Given the description of an element on the screen output the (x, y) to click on. 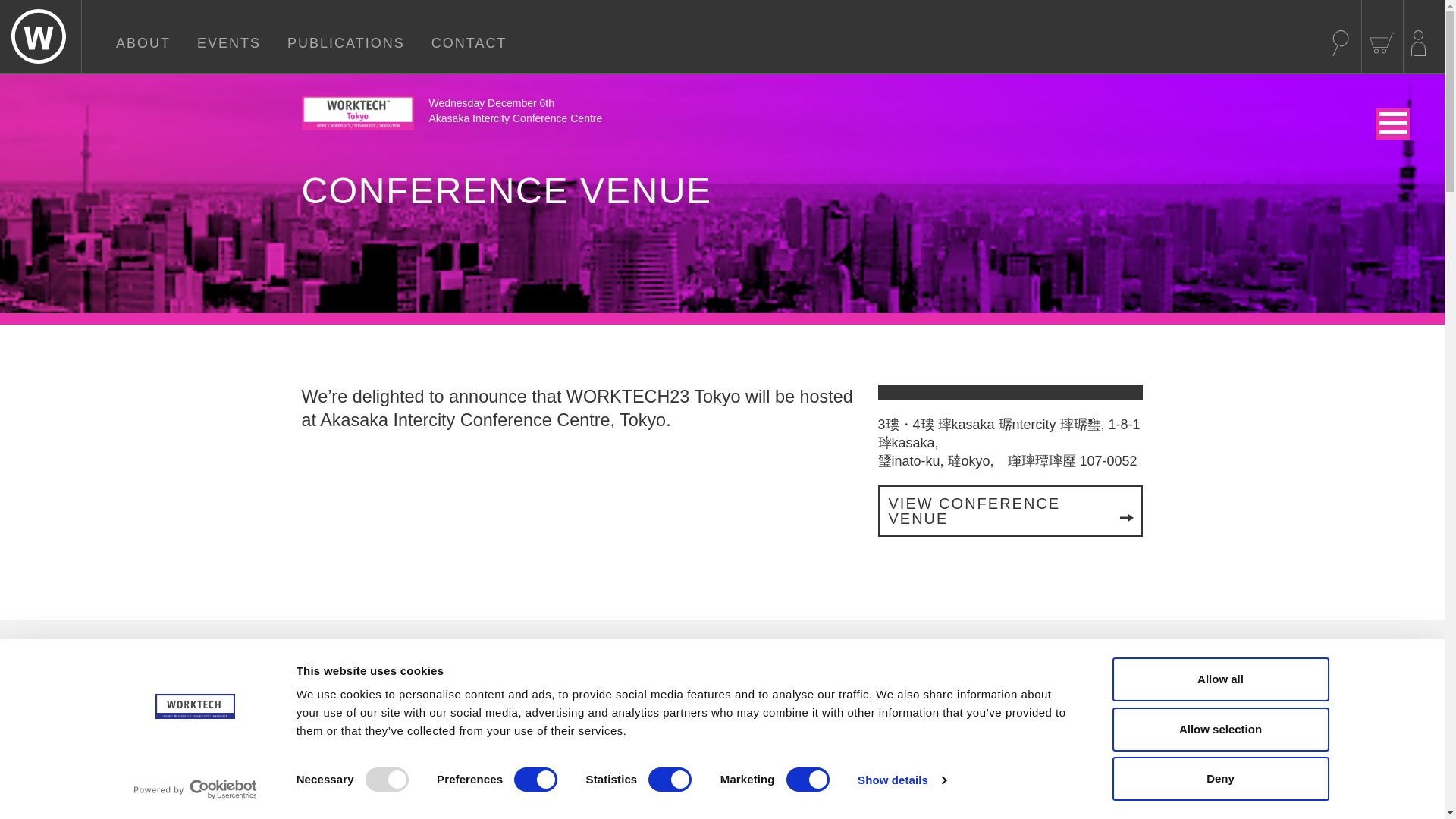
Show details (900, 780)
